Given the description of an element on the screen output the (x, y) to click on. 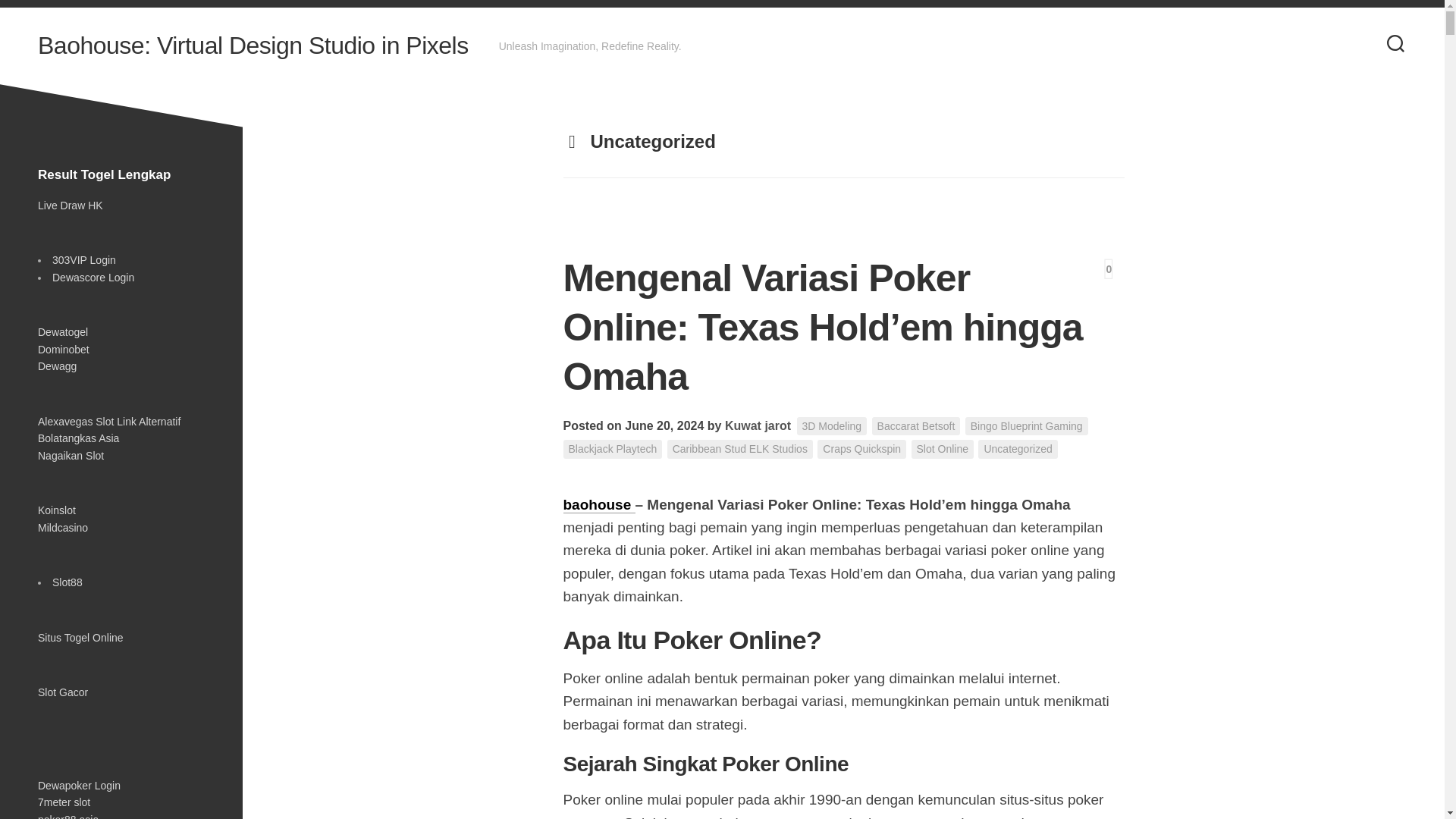
Blackjack Playtech (612, 448)
Posts by Kuwat jarot (757, 425)
0 (1108, 268)
Slot Online (942, 448)
Baohouse: Virtual Design Studio in Pixels (252, 44)
baohouse (598, 504)
Baccarat Betsoft (916, 425)
Craps Quickspin (860, 448)
Bingo Blueprint Gaming (1026, 425)
Kuwat jarot (757, 425)
